Given the description of an element on the screen output the (x, y) to click on. 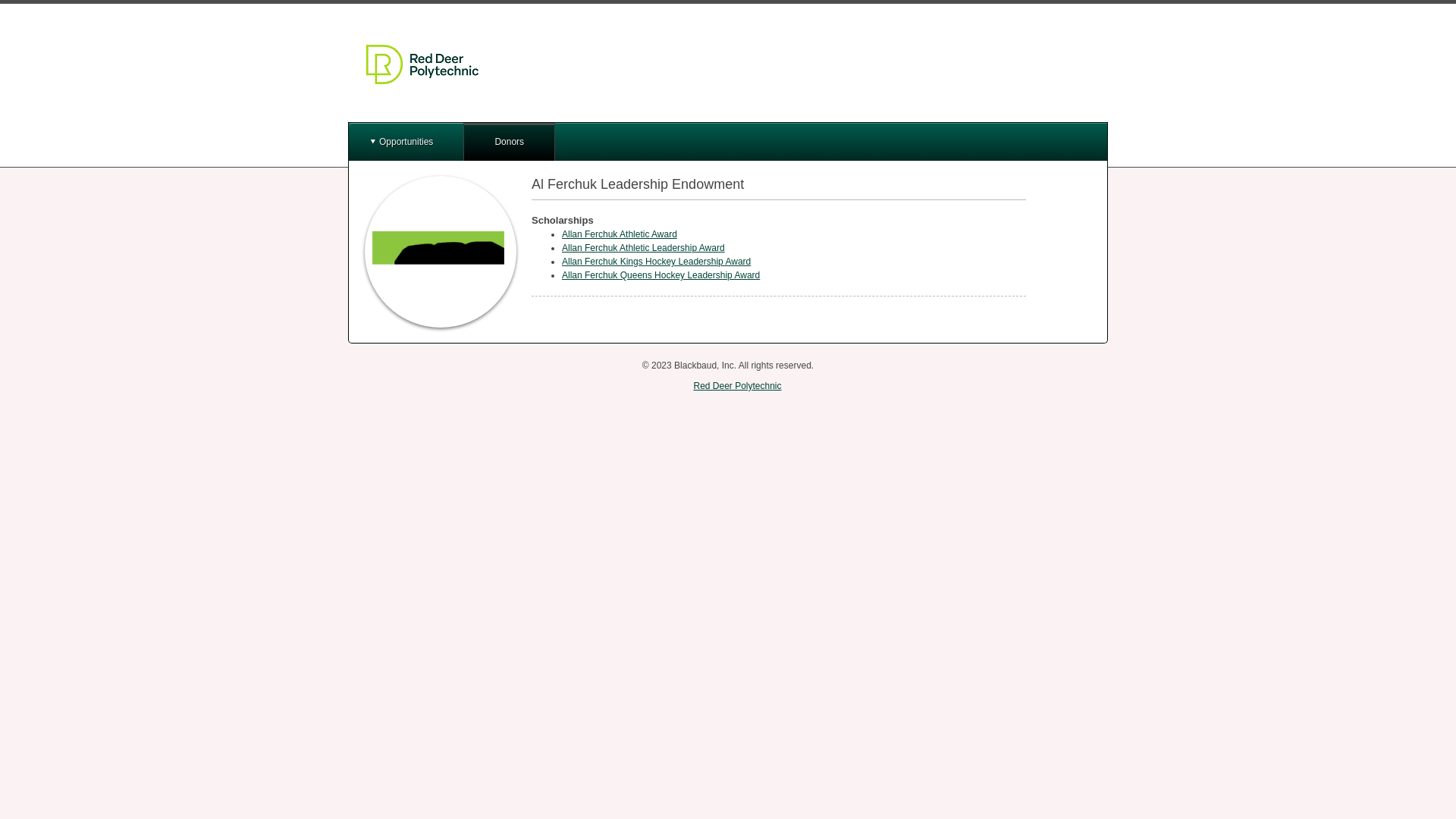
Red Deer Polytechnic Element type: text (737, 385)
Allan Ferchuk Kings Hockey Leadership Award Element type: text (655, 261)
Red Deer Polytechnic Scholarships  Element type: hover (422, 64)
Donors Element type: text (509, 141)
Opportunities Element type: text (405, 141)
Allan Ferchuk Athletic Leadership Award Element type: text (642, 247)
Allan Ferchuk Queens Hockey Leadership Award Element type: text (660, 274)
Allan Ferchuk Athletic Award Element type: text (619, 234)
